Given the description of an element on the screen output the (x, y) to click on. 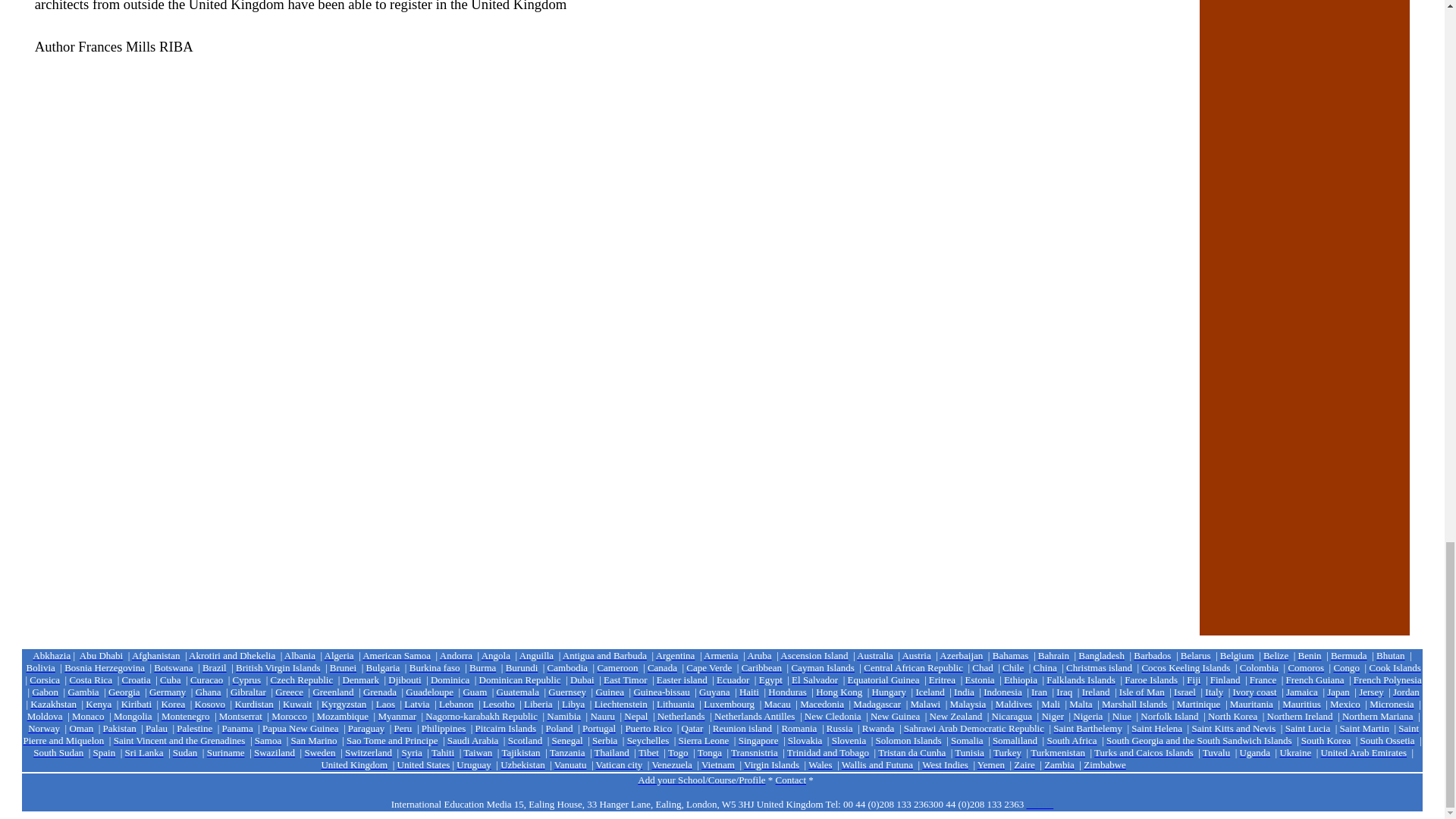
Abu Dhabi (101, 655)
Aruba (758, 654)
Ascension Island (813, 654)
Barbados (1152, 654)
Abkhazia (50, 654)
Andorra (455, 654)
Bahamas (1010, 654)
Bahrain (1053, 654)
Azerbaijan (960, 654)
Albania (299, 654)
